Given the description of an element on the screen output the (x, y) to click on. 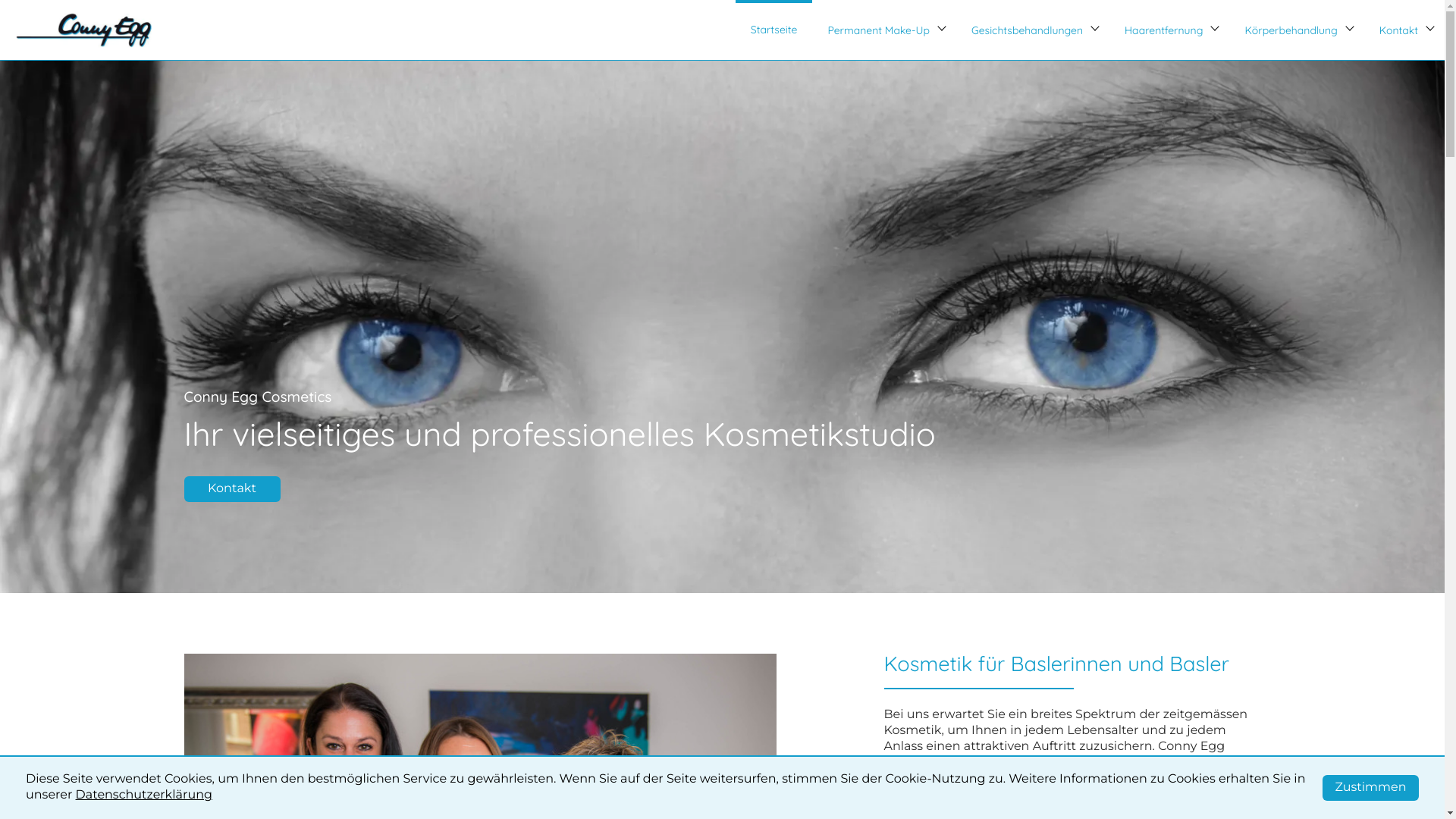
Startseite Element type: text (773, 30)
Kontakt Element type: text (231, 489)
